Given the description of an element on the screen output the (x, y) to click on. 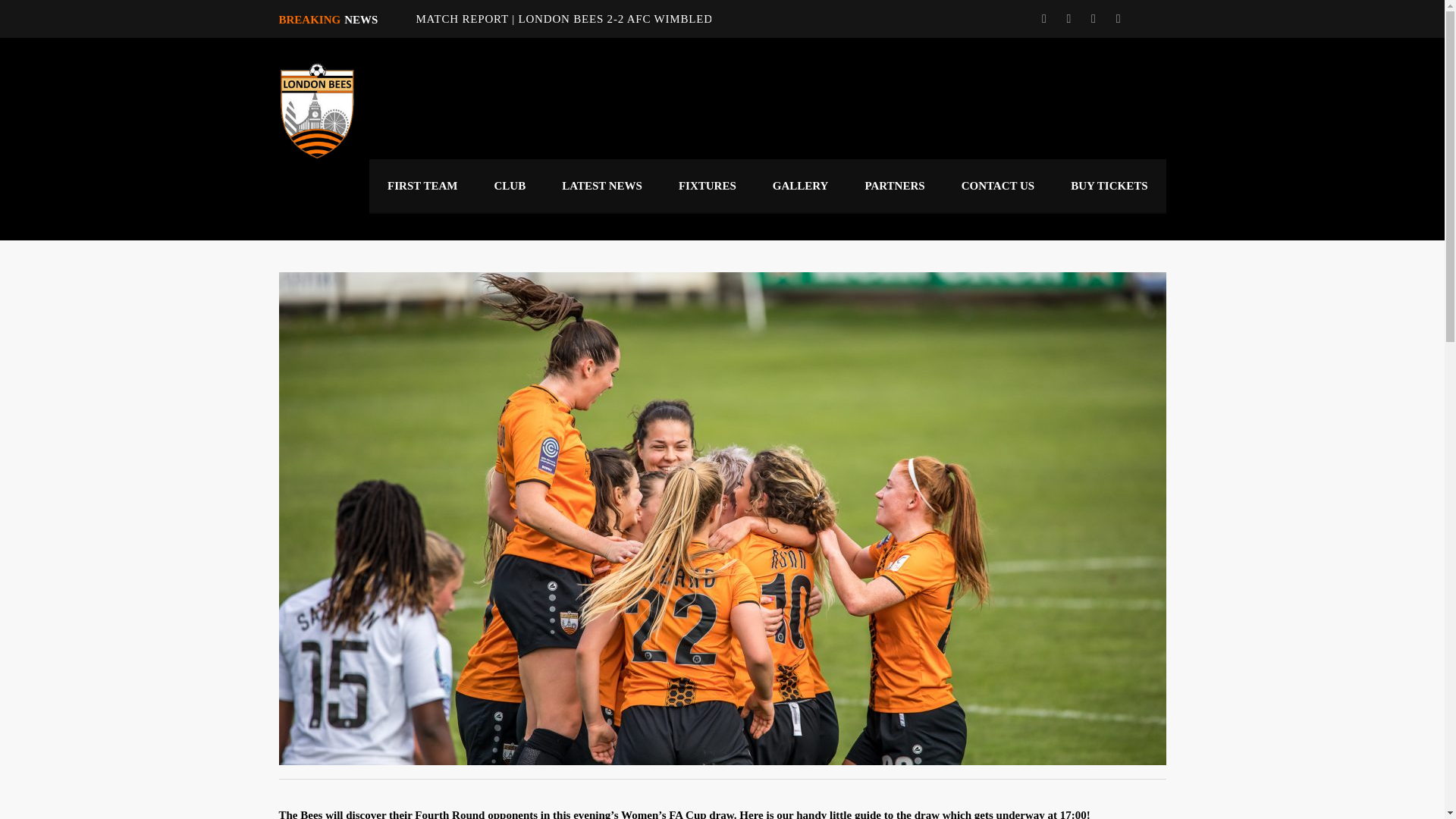
FIRST TEAM (422, 185)
FIXTURES (707, 185)
GALLERY (800, 185)
LATEST NEWS (602, 185)
PARTNERS (893, 185)
CONTACT US (997, 185)
CLUB (509, 185)
BUY TICKETS (1109, 185)
